Given the description of an element on the screen output the (x, y) to click on. 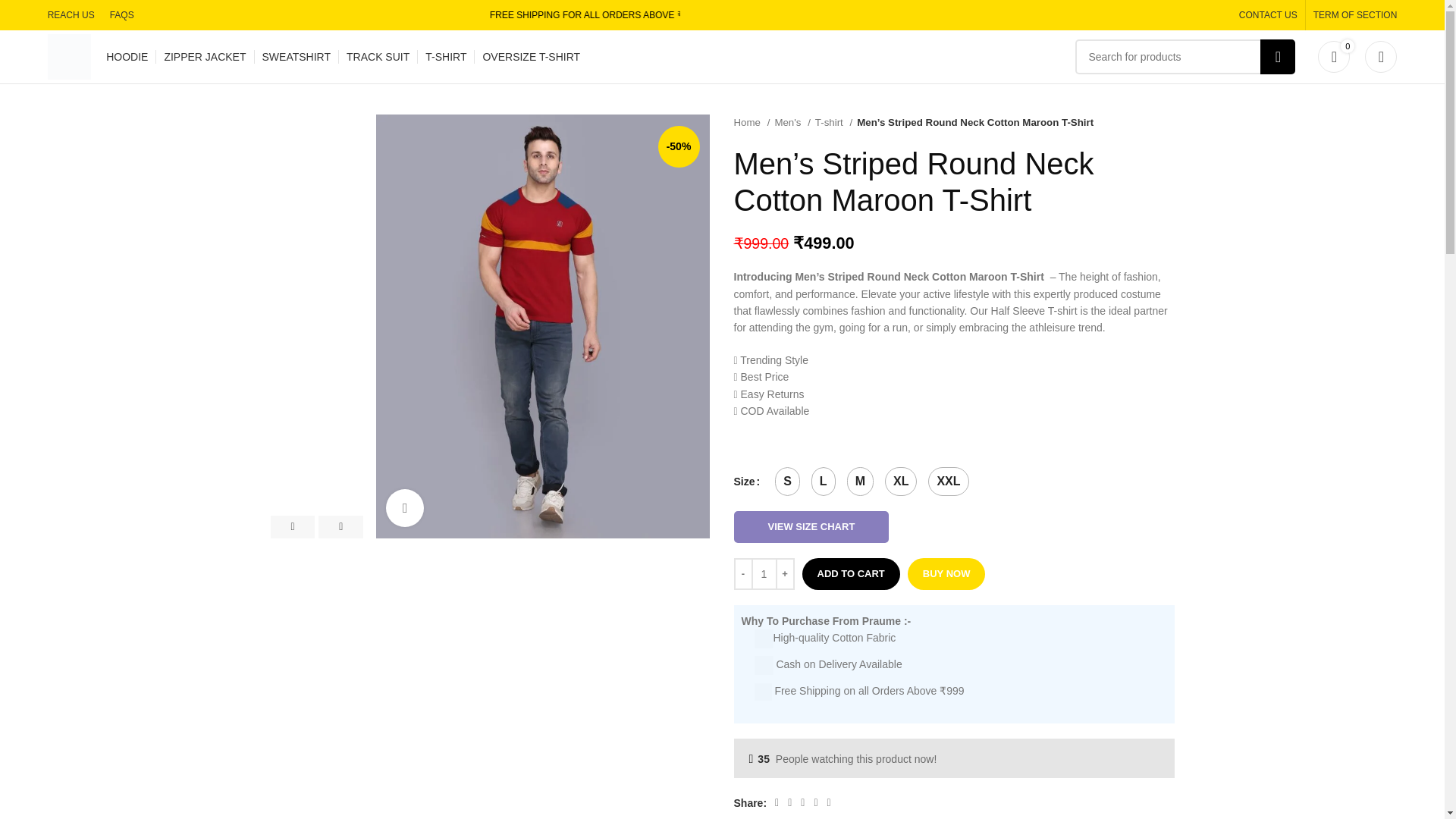
T-shirt (833, 122)
ZIPPER JACKET (204, 56)
REACH US (71, 15)
Men's (791, 122)
SEARCH (1277, 56)
T-SHIRT (445, 56)
Shopping cart (1333, 56)
HOODIE (127, 56)
Search for products (1185, 56)
My account (1380, 56)
